Given the description of an element on the screen output the (x, y) to click on. 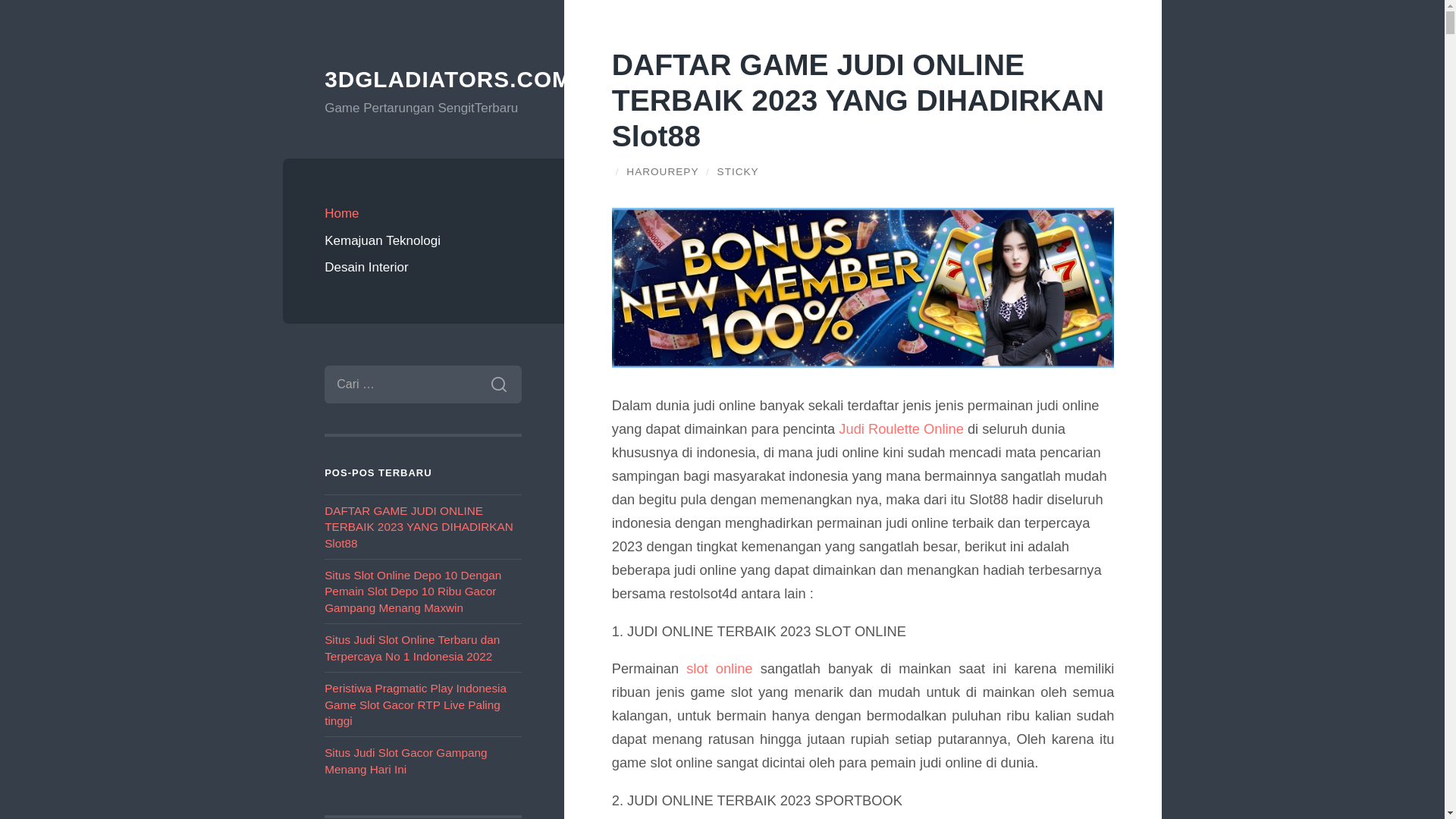
DAFTAR GAME JUDI ONLINE TERBAIK 2023 YANG DIHADIRKAN Slot88 Element type: text (418, 526)
Situs Judi Slot Gacor Gampang Menang Hari Ini Element type: text (405, 760)
Cari Element type: text (498, 384)
Judi Roulette Online Element type: text (900, 428)
Kemajuan Teknologi Element type: text (422, 240)
Home Element type: text (422, 213)
DAFTAR GAME JUDI ONLINE TERBAIK 2023 YANG DIHADIRKAN Slot88 Element type: text (857, 100)
Desain Interior Element type: text (422, 267)
HAROUREPY Element type: text (662, 171)
3DGLADIATORS.COM Element type: text (447, 78)
slot online Element type: text (719, 668)
